Given the description of an element on the screen output the (x, y) to click on. 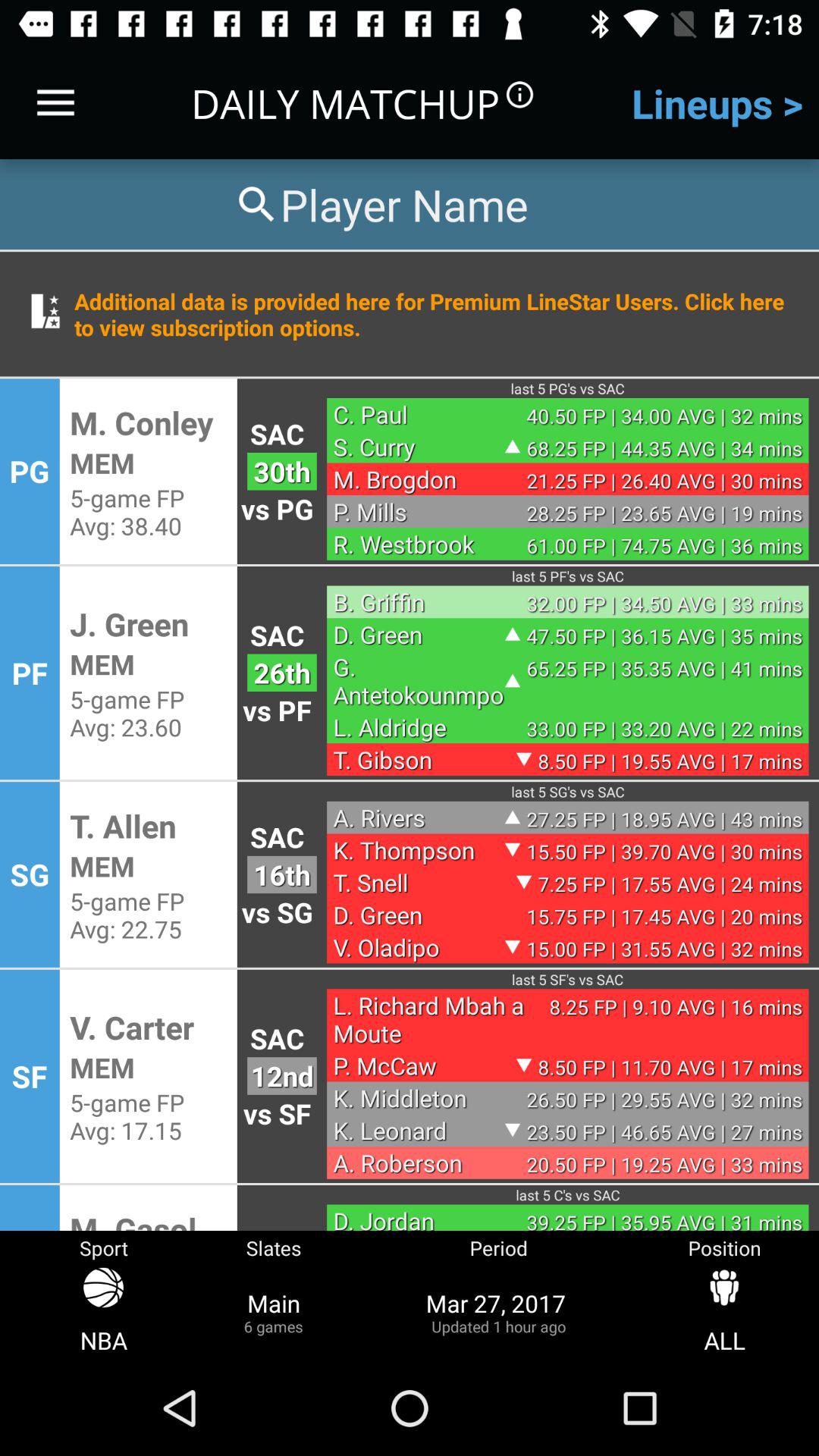
select the icon above the m. brogdon (418, 446)
